Given the description of an element on the screen output the (x, y) to click on. 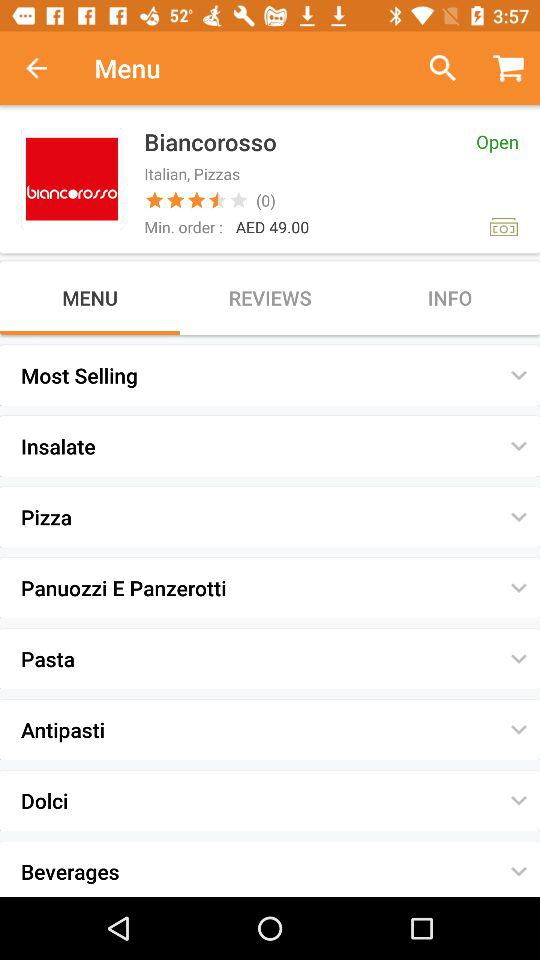
open icon above the biancorosso (434, 68)
